Given the description of an element on the screen output the (x, y) to click on. 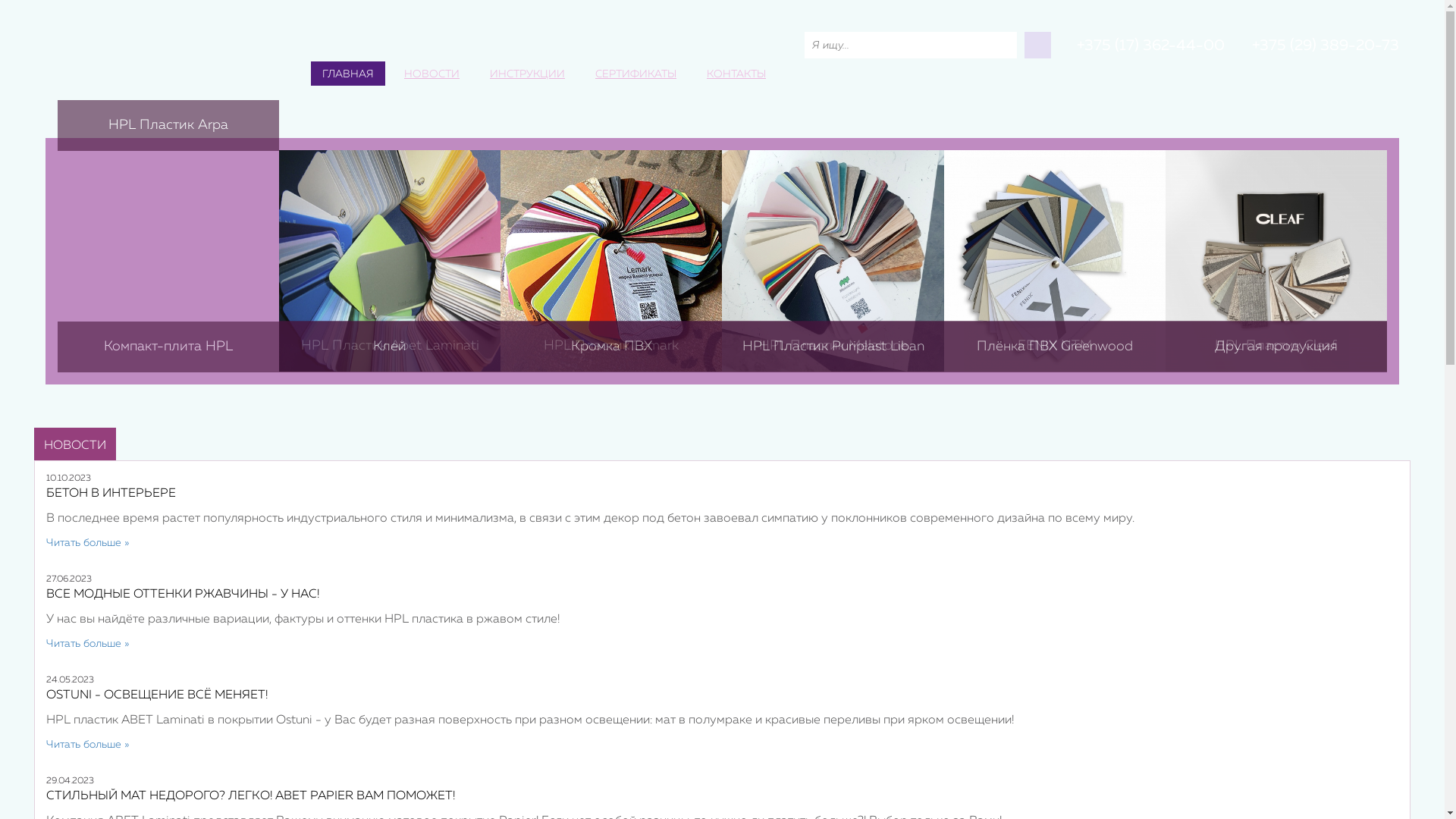
FENIX NTM Element type: text (1054, 260)
